Given the description of an element on the screen output the (x, y) to click on. 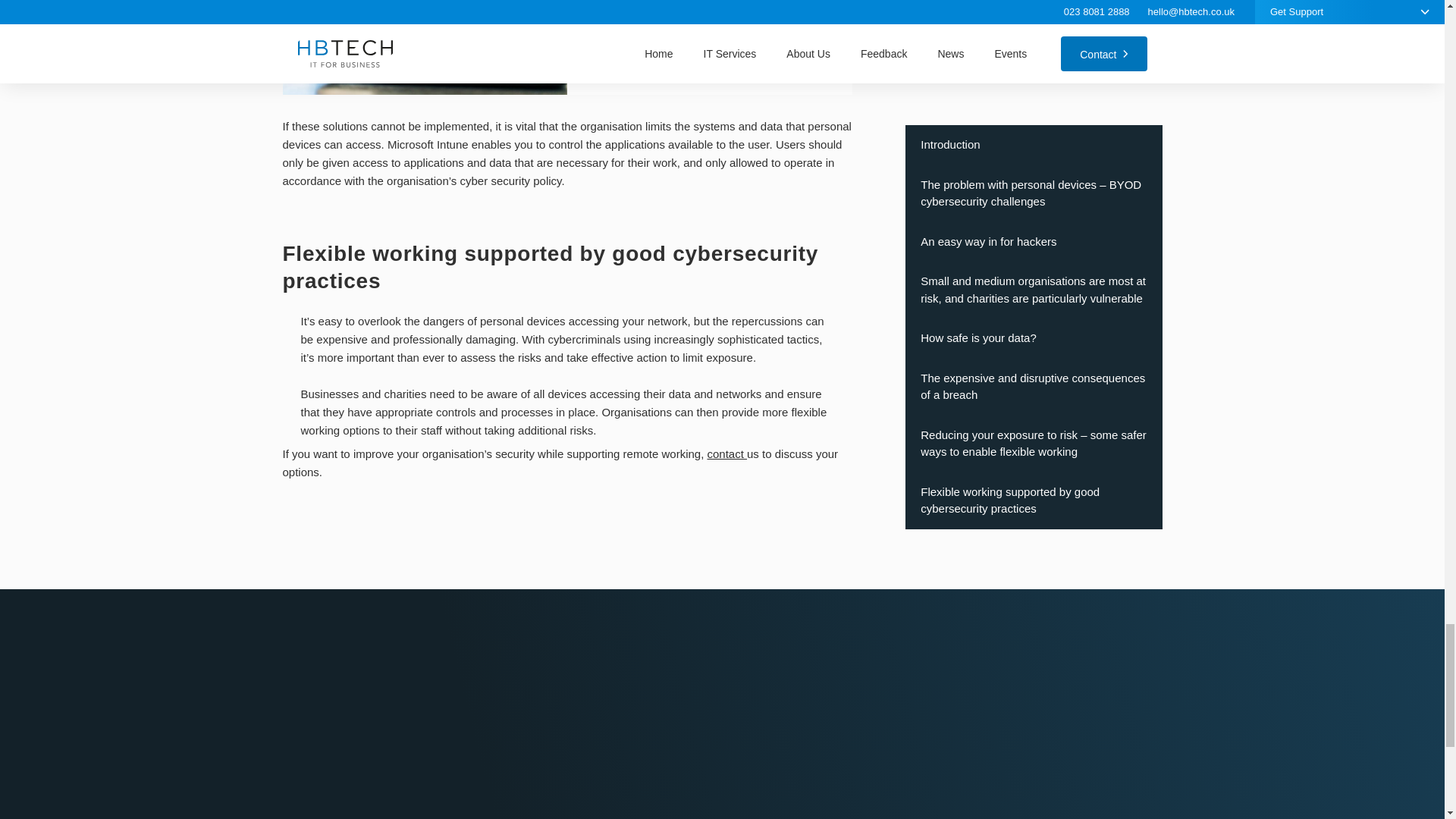
contact (726, 453)
